Given the description of an element on the screen output the (x, y) to click on. 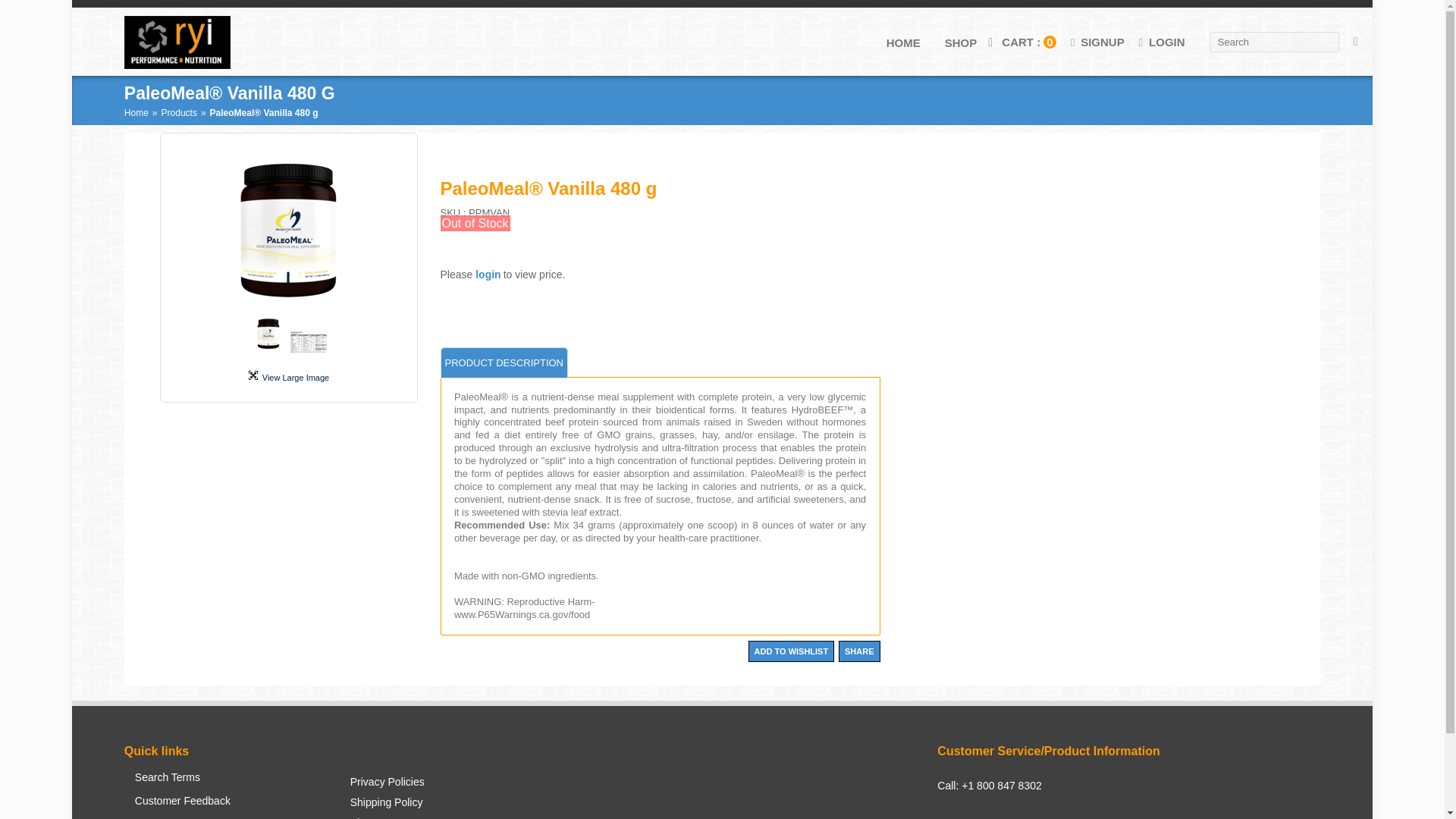
Home (135, 112)
Sitemap (387, 818)
SHOP (952, 42)
Privacy Policies (387, 786)
Shipping Policy (387, 806)
View Large Image (288, 376)
LOGIN (1160, 42)
Search Terms (182, 783)
ADD TO WISHLIST (791, 650)
SIGNUP (1095, 42)
